Given the description of an element on the screen output the (x, y) to click on. 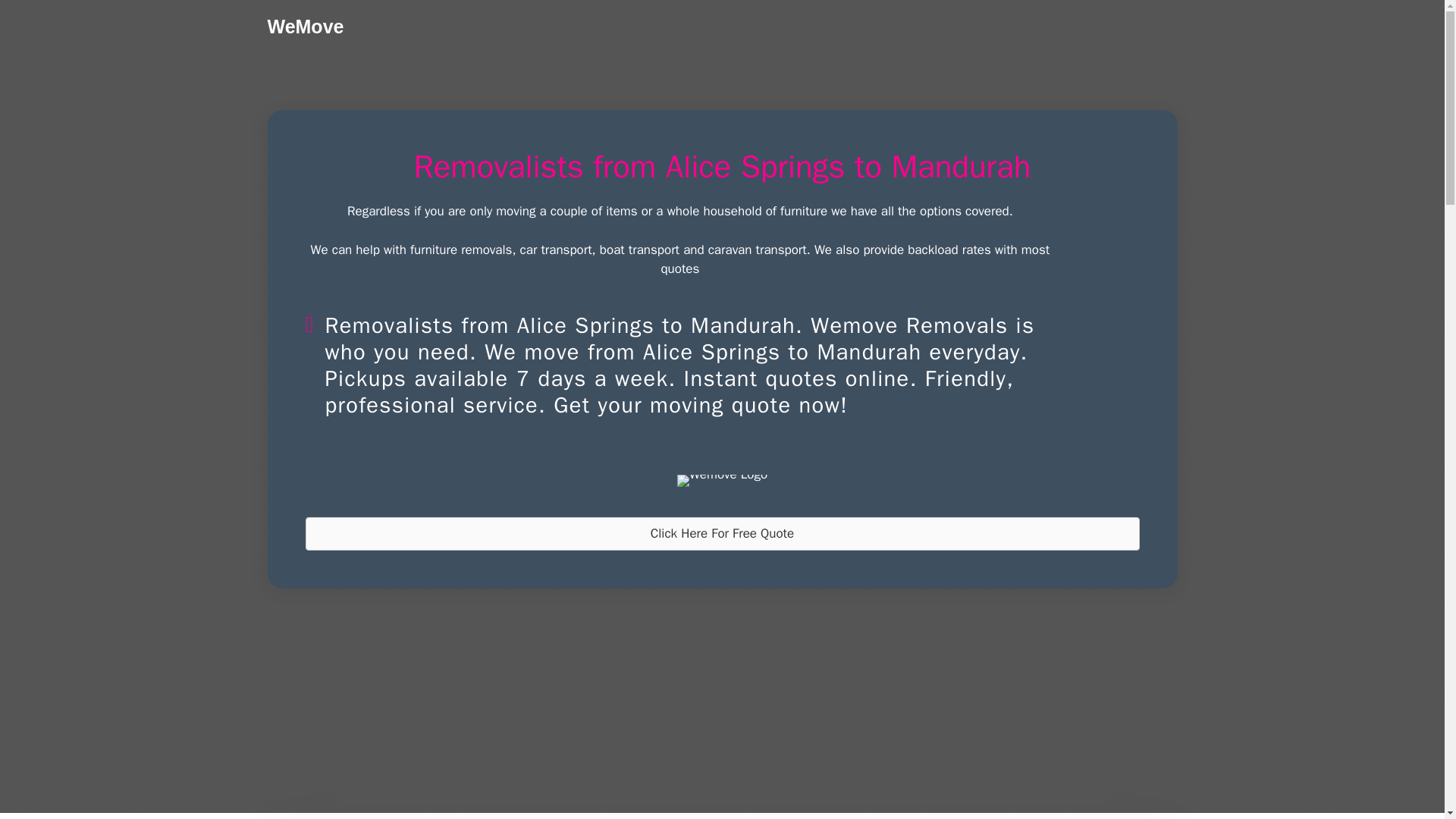
WeMove (304, 25)
Click Here For Free Quote (721, 533)
Wemove Removalists (722, 480)
